Given the description of an element on the screen output the (x, y) to click on. 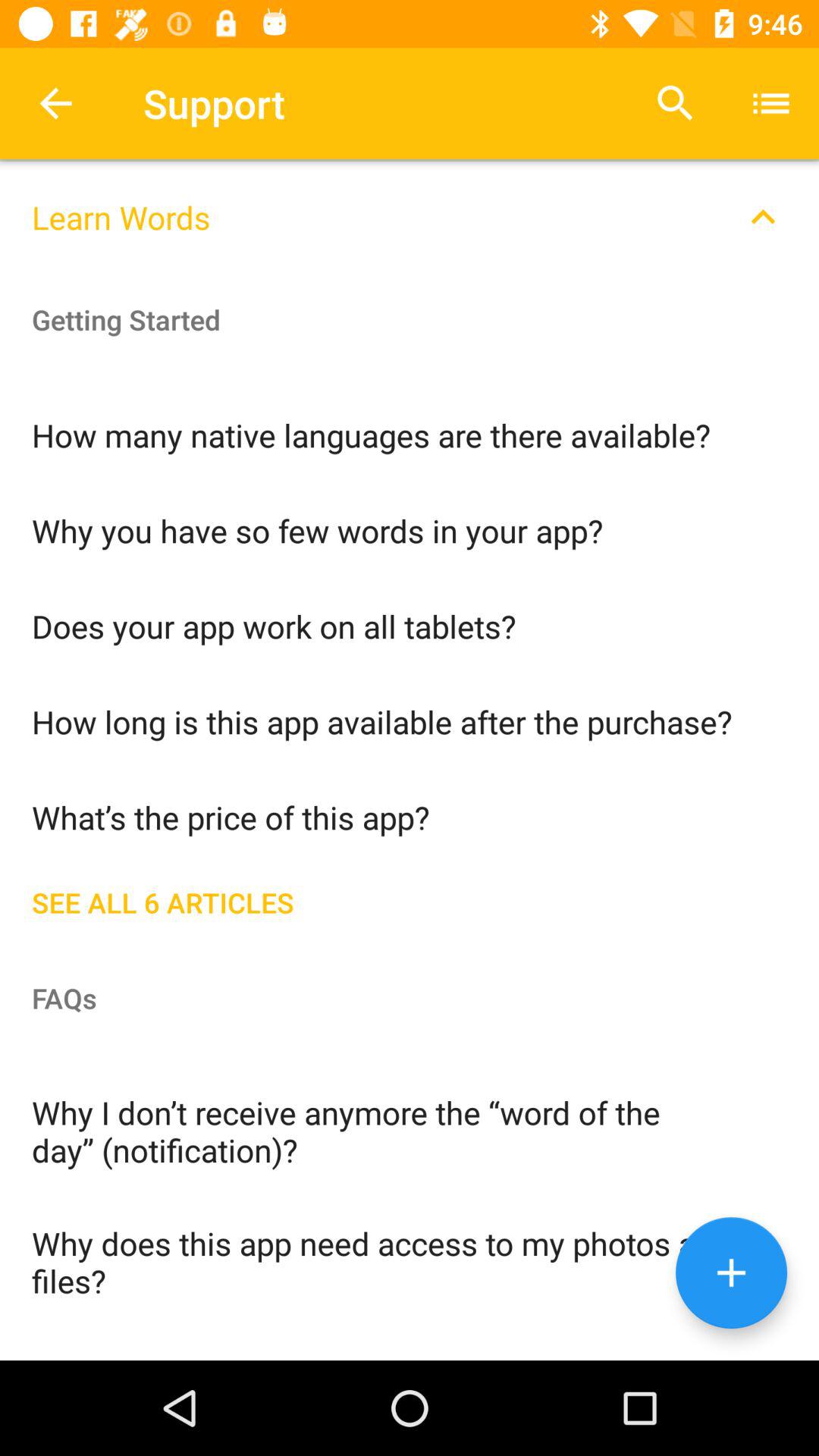
add a new page (731, 1272)
